Given the description of an element on the screen output the (x, y) to click on. 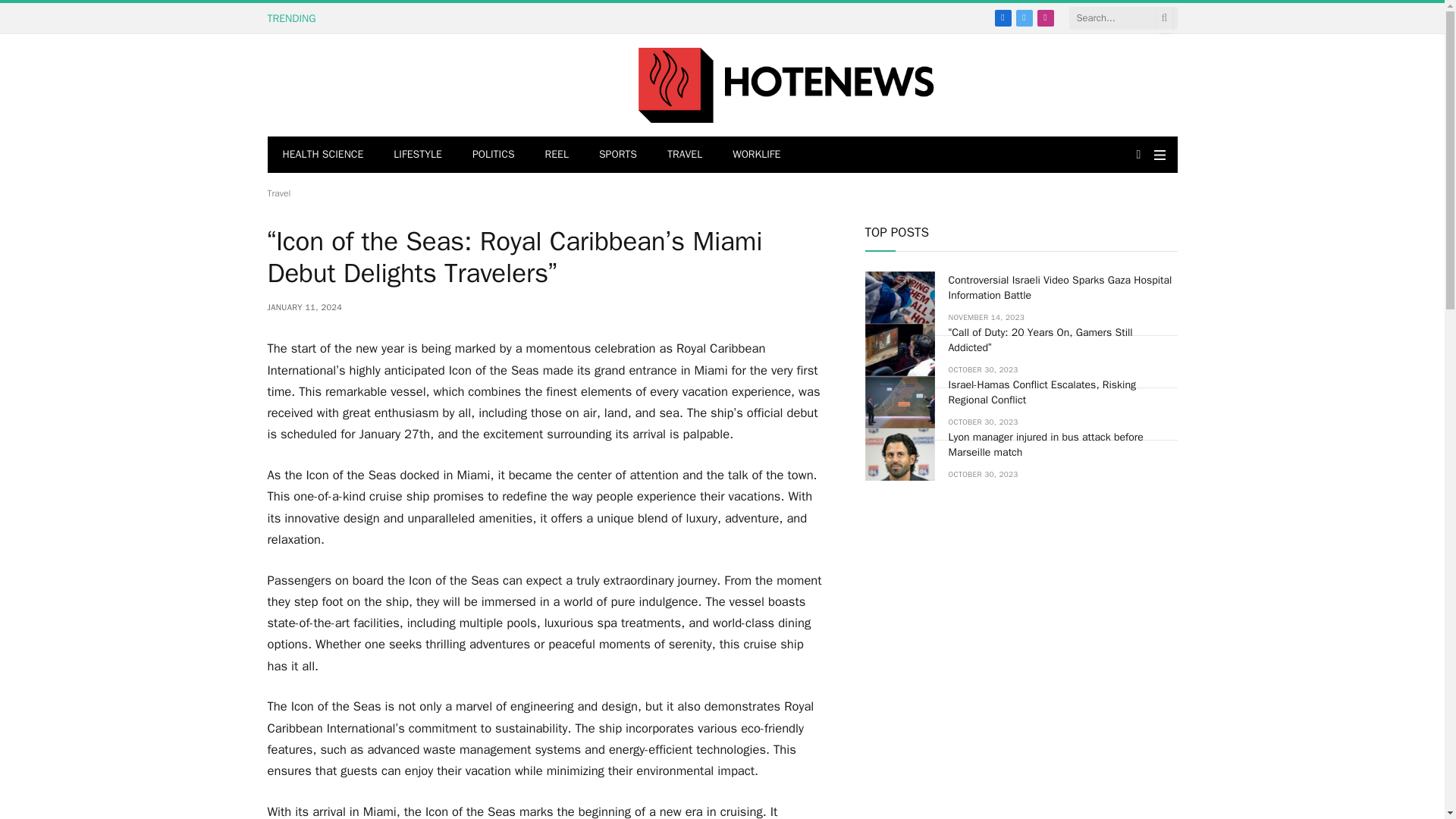
REEL (556, 154)
Instagram (1045, 17)
LIFESTYLE (417, 154)
Lyon manager injured in bus attack before Marseille match (899, 454)
Israel-Hamas Conflict Escalates, Risking Regional Conflict (899, 401)
WORKLIFE (755, 154)
SPORTS (617, 154)
Facebook (1002, 17)
Switch to Dark Design - easier on eyes. (1138, 154)
POLITICS (493, 154)
HEALTH SCIENCE (322, 154)
Hote News (786, 85)
TRAVEL (684, 154)
